Given the description of an element on the screen output the (x, y) to click on. 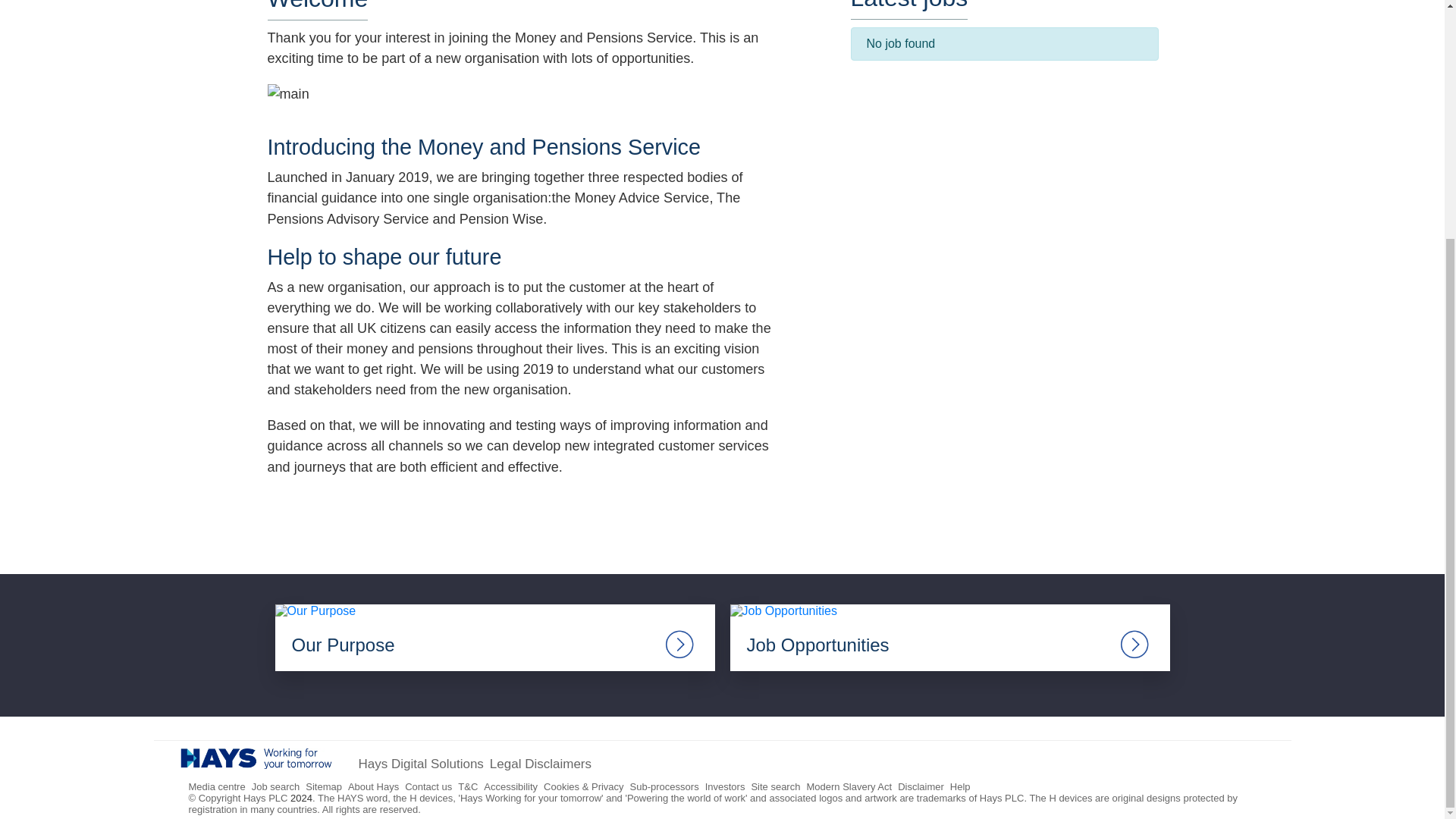
Our Purpose (494, 637)
Job Opportunities (949, 637)
Help (960, 786)
Sitemap (323, 786)
Disclaimer (920, 786)
Site search (775, 786)
Investors (724, 786)
Media centre (215, 786)
Sub-processors (664, 786)
Job search (275, 786)
